Given the description of an element on the screen output the (x, y) to click on. 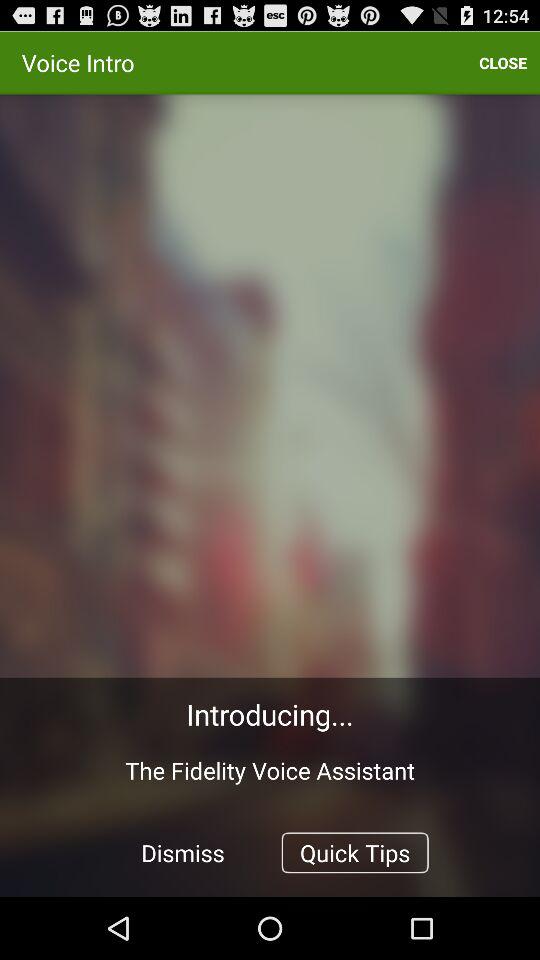
turn on the icon below the the fidelity voice icon (183, 852)
